Given the description of an element on the screen output the (x, y) to click on. 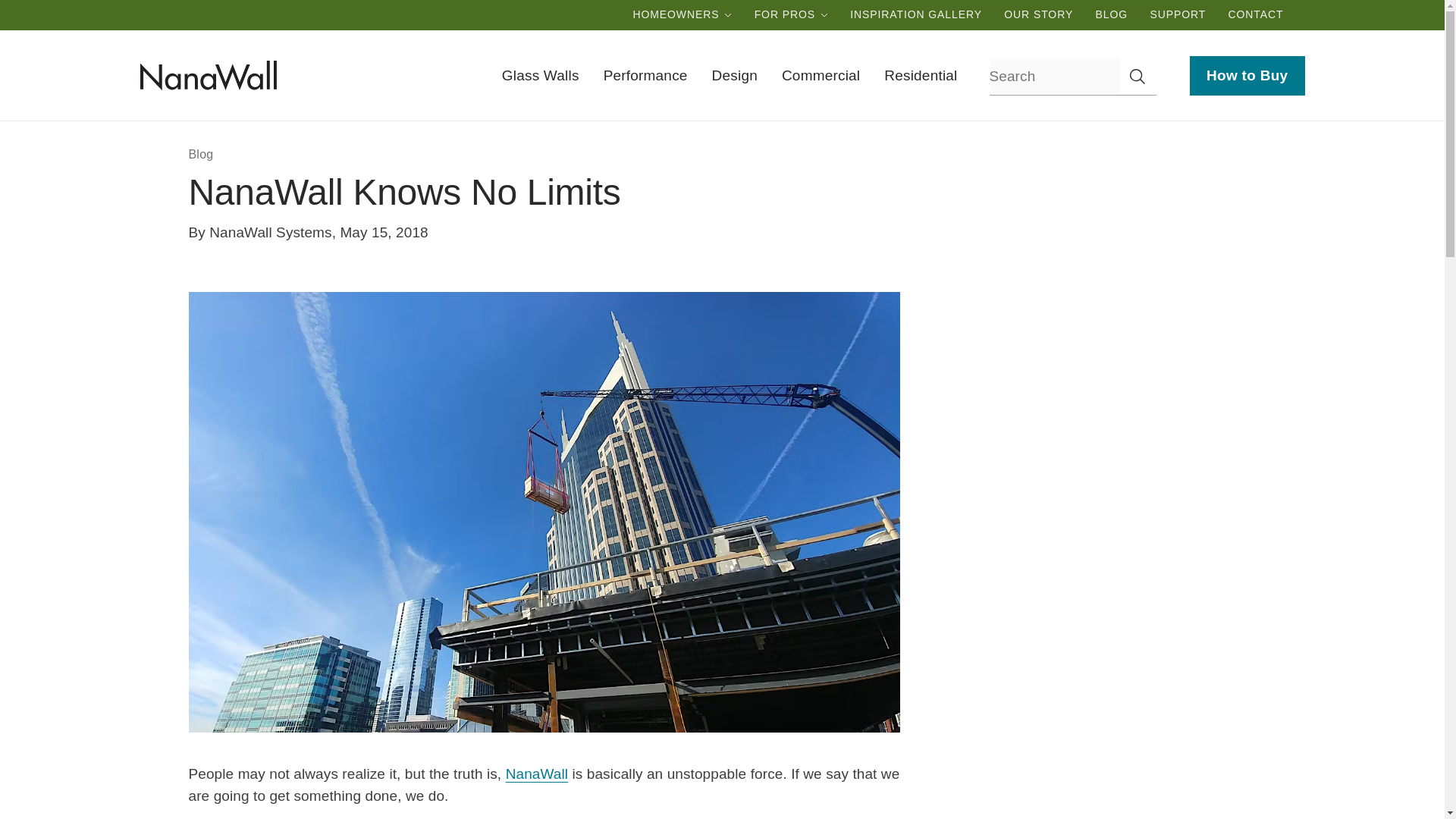
Residential (919, 75)
Performance (645, 75)
CONTACT (1256, 14)
BLOG (1111, 14)
OUR STORY (1037, 14)
SUPPORT (1177, 14)
INSPIRATION GALLERY (916, 14)
Design (734, 75)
Glass Walls (540, 75)
